Given the description of an element on the screen output the (x, y) to click on. 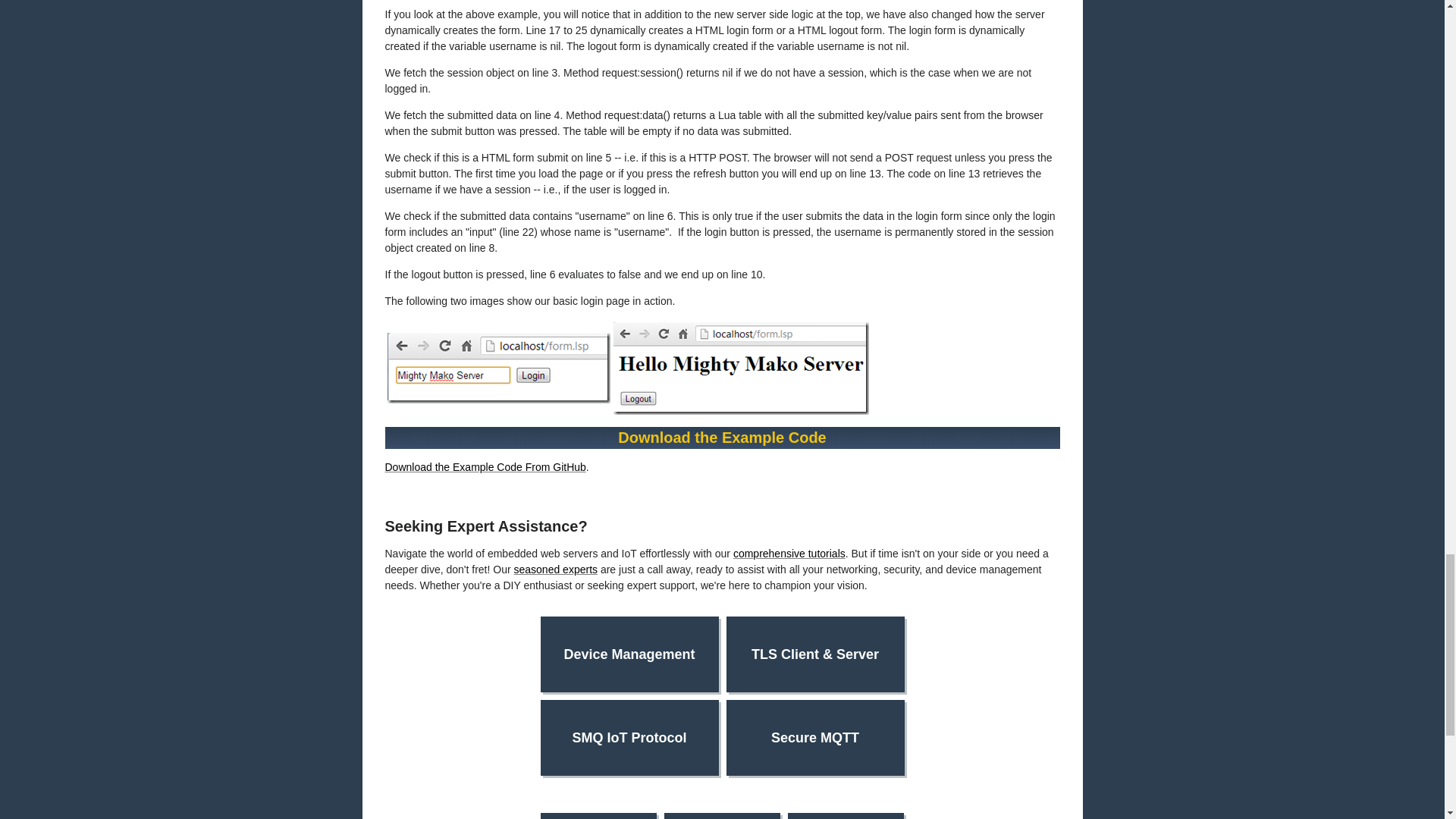
SMQ IoT Protocol (628, 737)
image (739, 368)
seasoned experts (555, 569)
comprehensive tutorials (789, 553)
On-Premises IoT (845, 816)
Download the Example Code From GitHub (485, 467)
Device Management (628, 654)
Edge Controller (721, 816)
image (498, 367)
OPC-UA (598, 816)
